Given the description of an element on the screen output the (x, y) to click on. 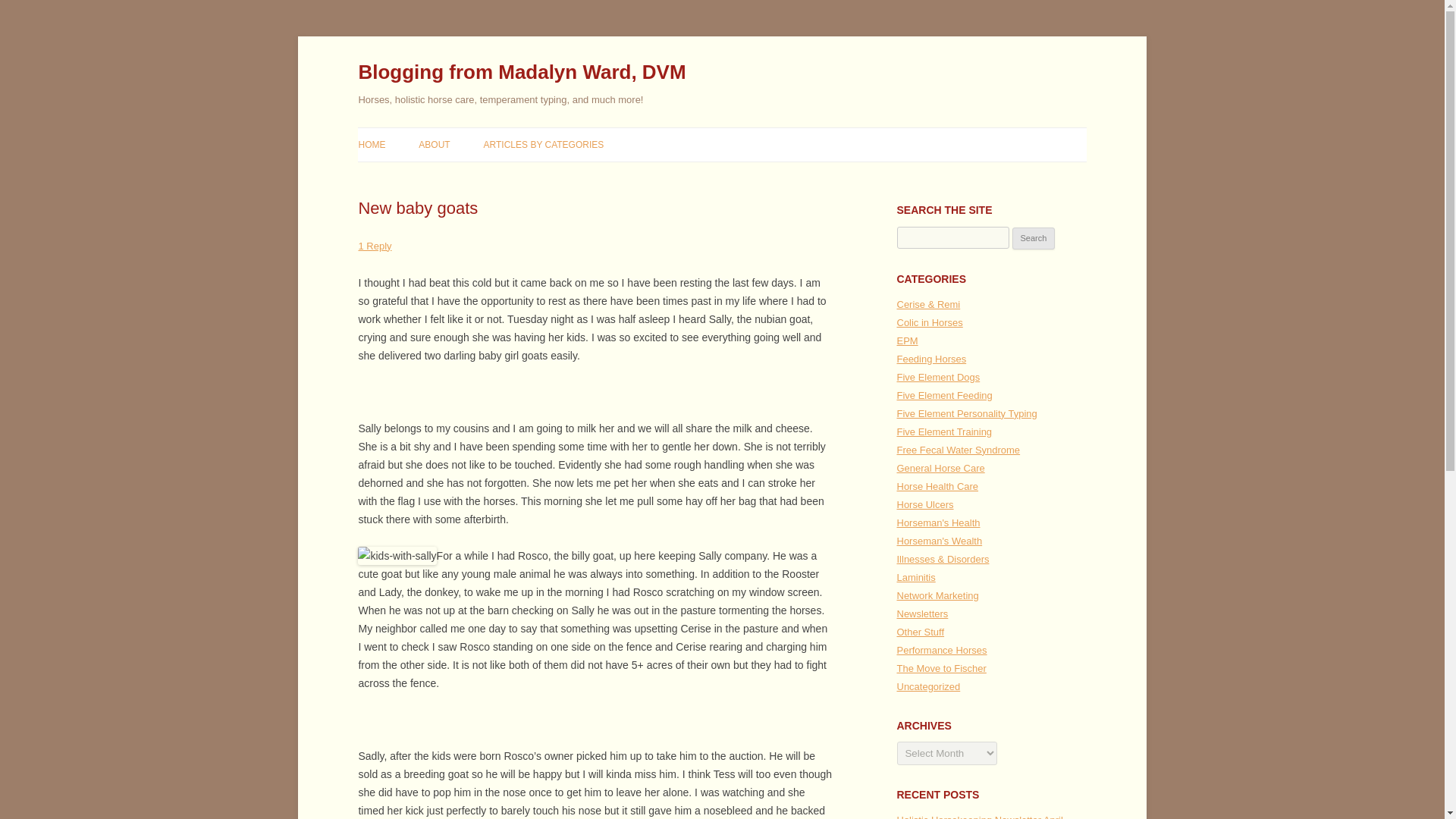
ABOUT (434, 144)
Five Element Dogs (937, 377)
Horse Health Care (937, 486)
Colic in Horses (929, 322)
kids-with-sally (396, 556)
Free Fecal Water Syndrome (958, 449)
Search (1033, 238)
EPM (906, 340)
